Given the description of an element on the screen output the (x, y) to click on. 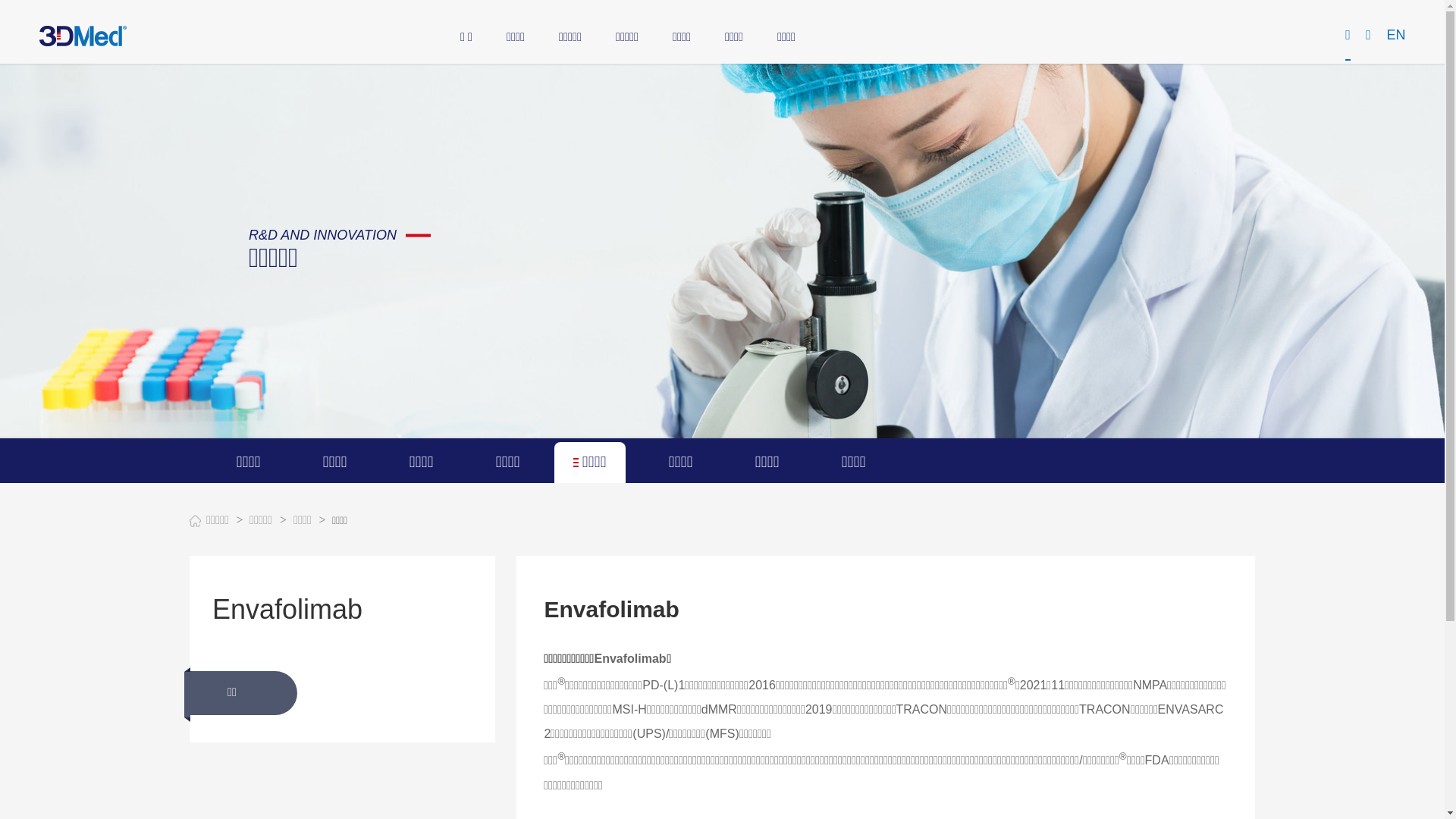
> Element type: text (239, 520)
EN Element type: text (1395, 35)
